Given the description of an element on the screen output the (x, y) to click on. 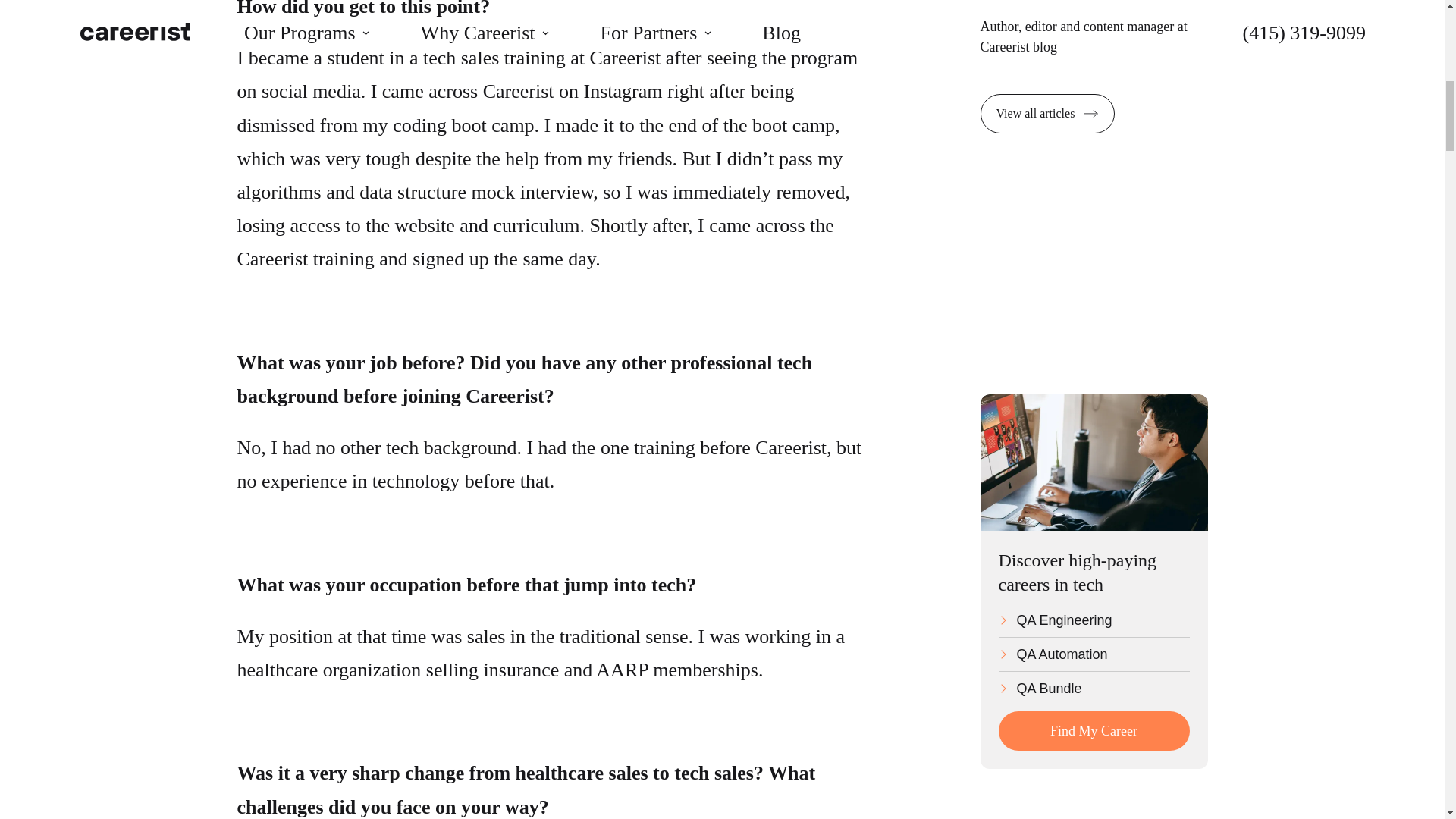
View all articles (1047, 113)
QA Engineering (1093, 623)
QA Automation (1093, 657)
Find My Career (1093, 731)
QA Bundle (1093, 688)
